Given the description of an element on the screen output the (x, y) to click on. 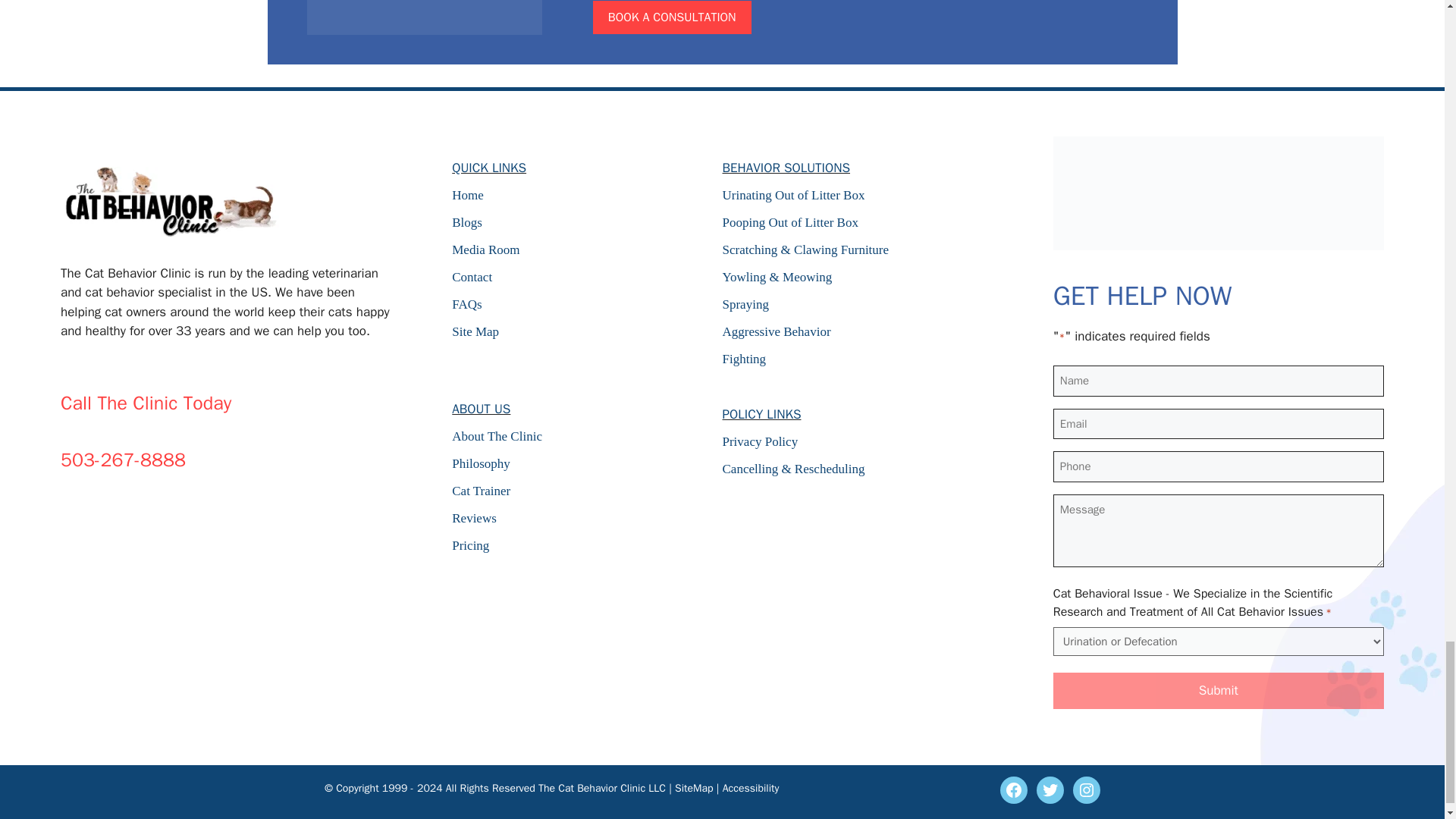
503-267-8888 (123, 459)
Site Map (586, 332)
Call The Clinic Today (146, 402)
Cat Trainer (586, 491)
Reviews (586, 518)
Media Room (586, 250)
FAQs (586, 304)
Pricing (586, 546)
Submit (1218, 690)
About The Clinic (586, 436)
